Given the description of an element on the screen output the (x, y) to click on. 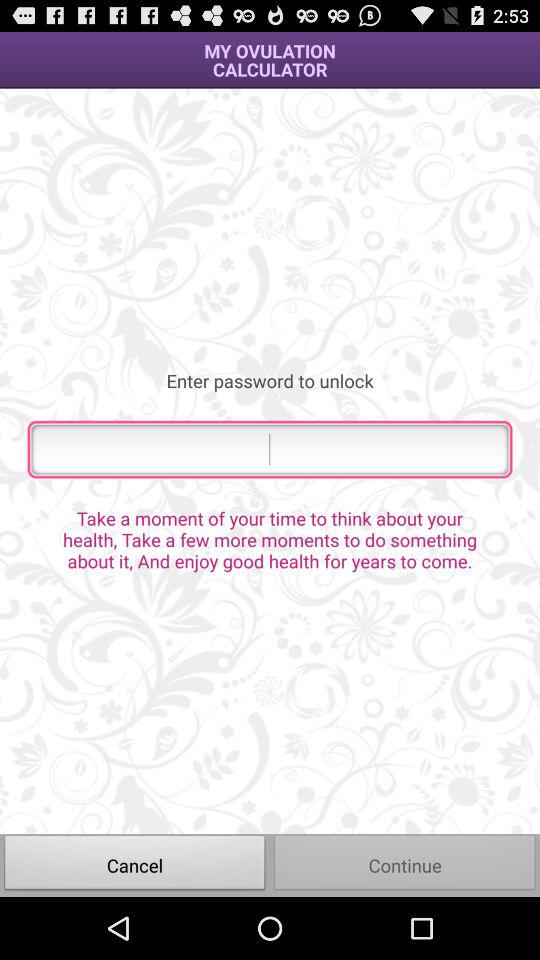
press button to the left of continue (135, 864)
